Given the description of an element on the screen output the (x, y) to click on. 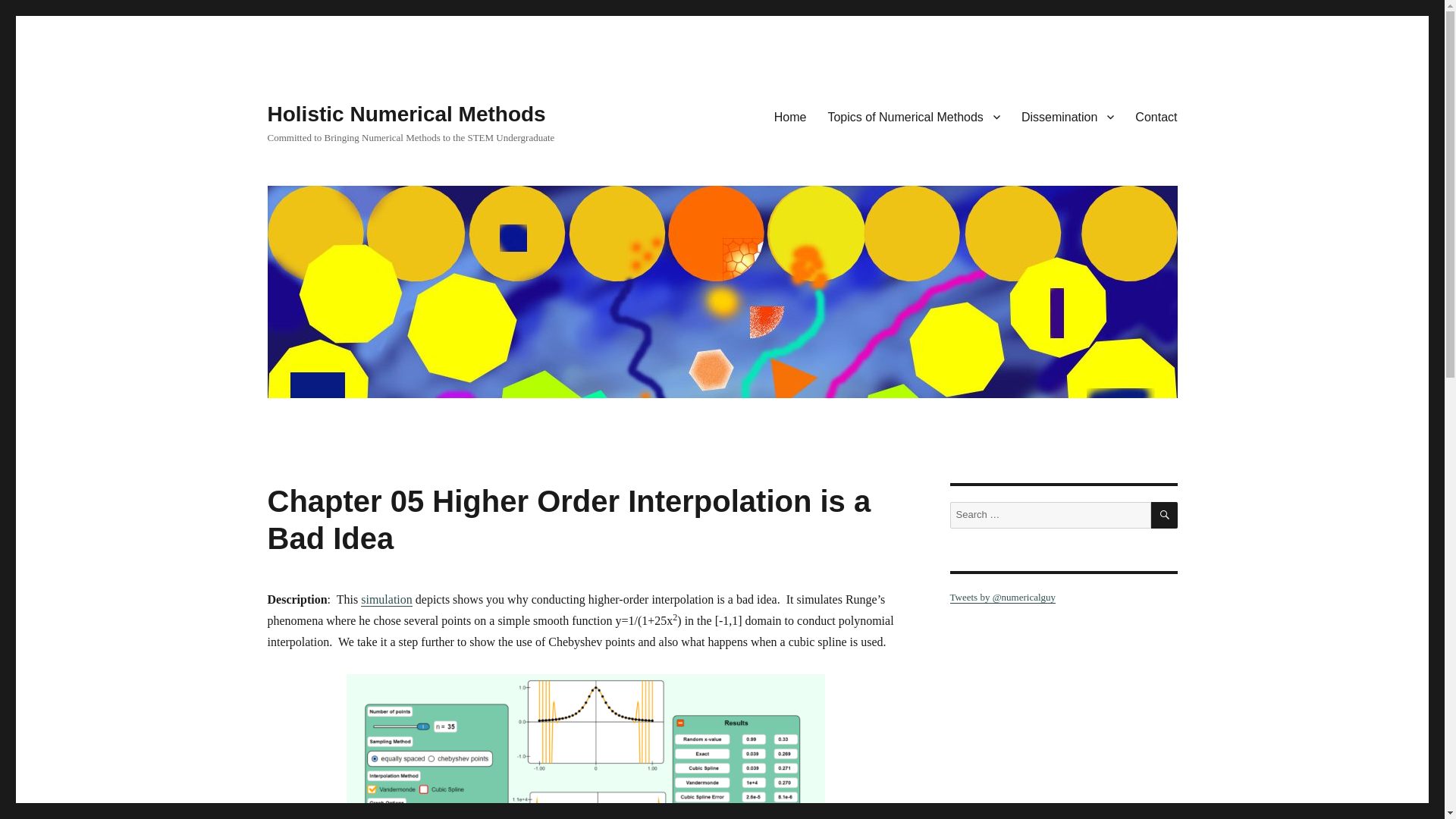
Dissemination (1067, 116)
Topics of Numerical Methods (913, 116)
Home (789, 116)
Contact (1156, 116)
Holistic Numerical Methods (405, 114)
simulation (386, 599)
